Given the description of an element on the screen output the (x, y) to click on. 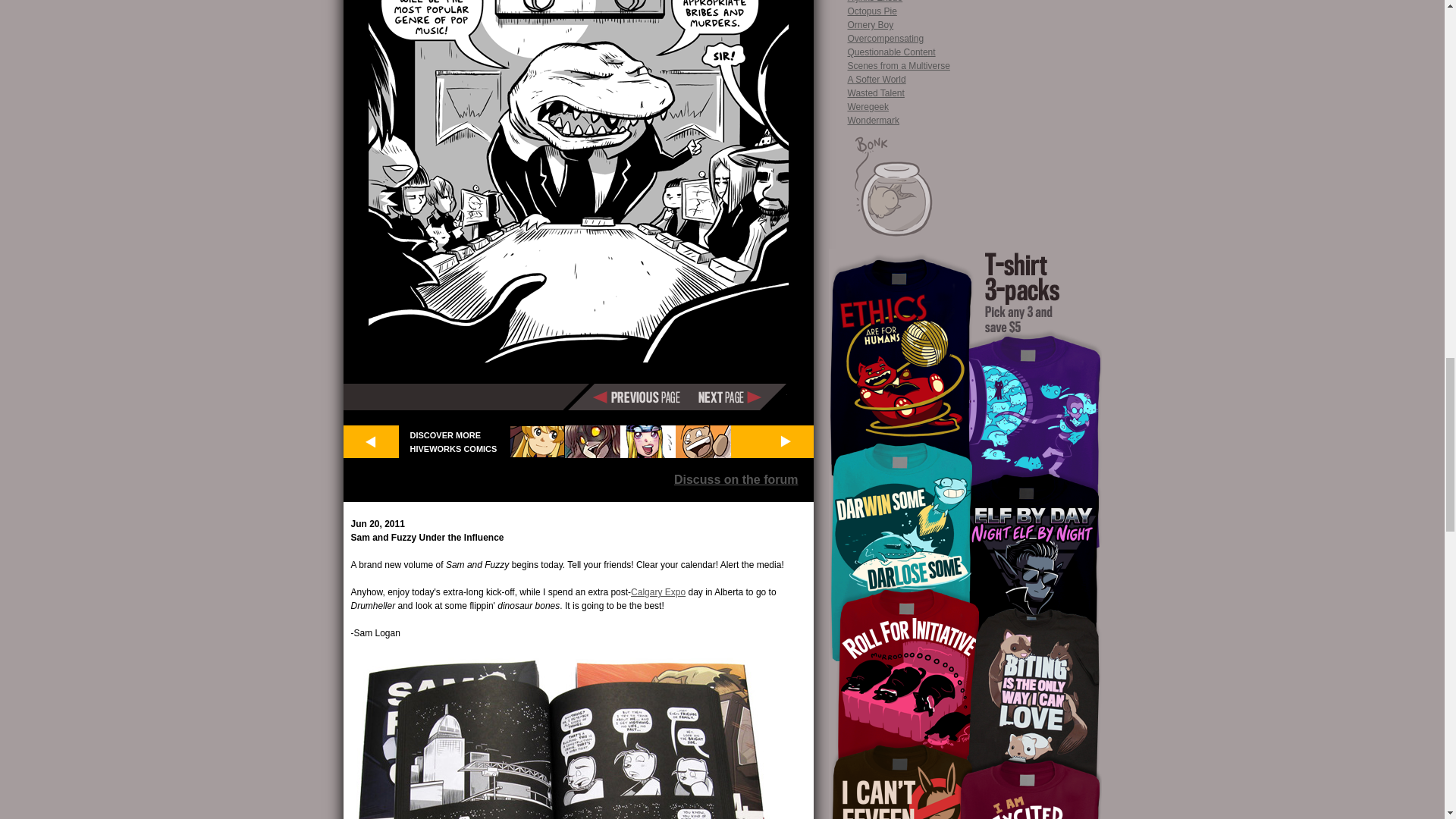
Next page (738, 397)
DISCOVER MORE HIVEWORKS COMICS (453, 441)
Previous page (641, 397)
